Given the description of an element on the screen output the (x, y) to click on. 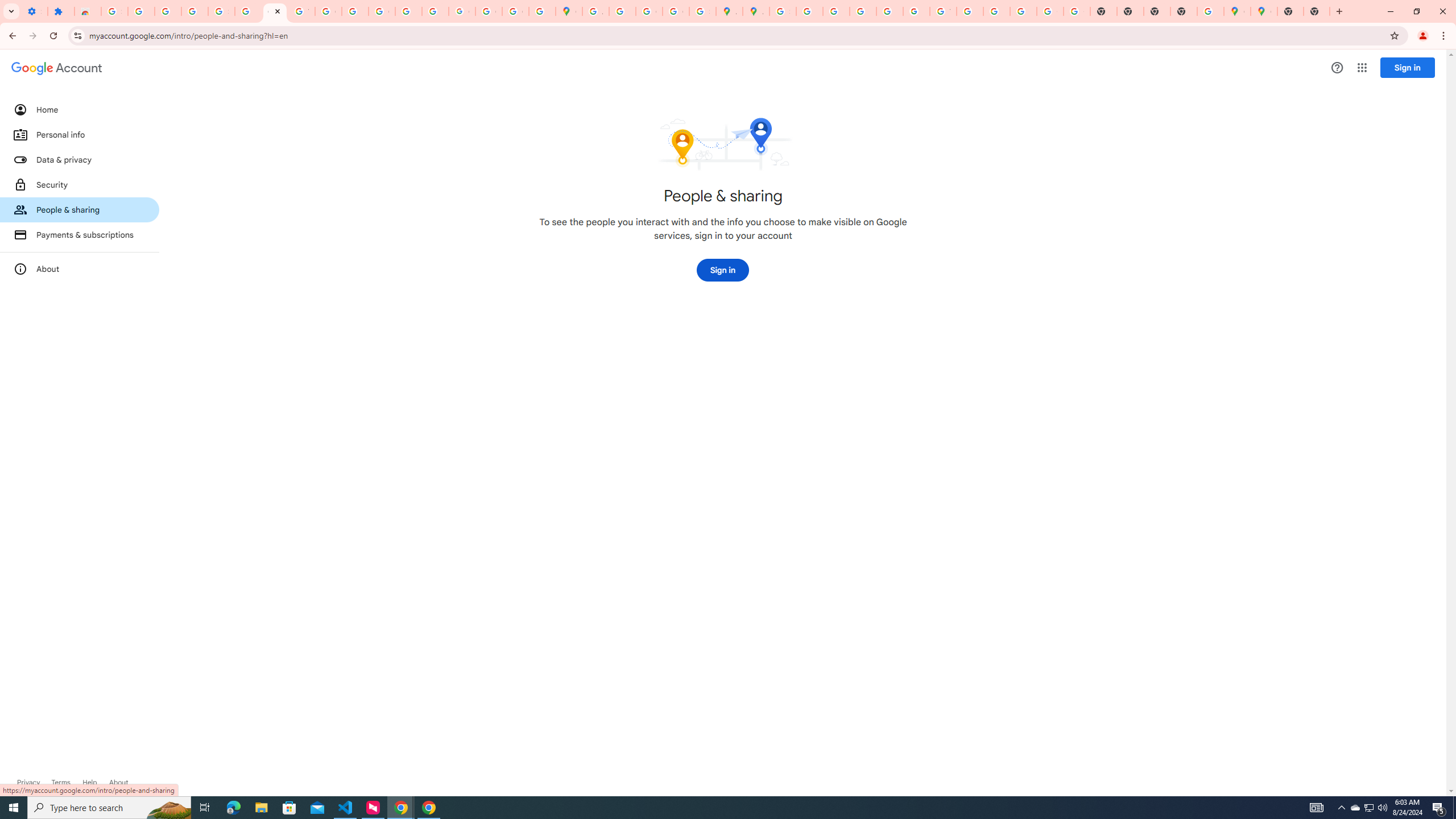
New Tab (1183, 11)
Learn more about Google Account (118, 782)
Use Google Maps in Space - Google Maps Help (1210, 11)
